Given the description of an element on the screen output the (x, y) to click on. 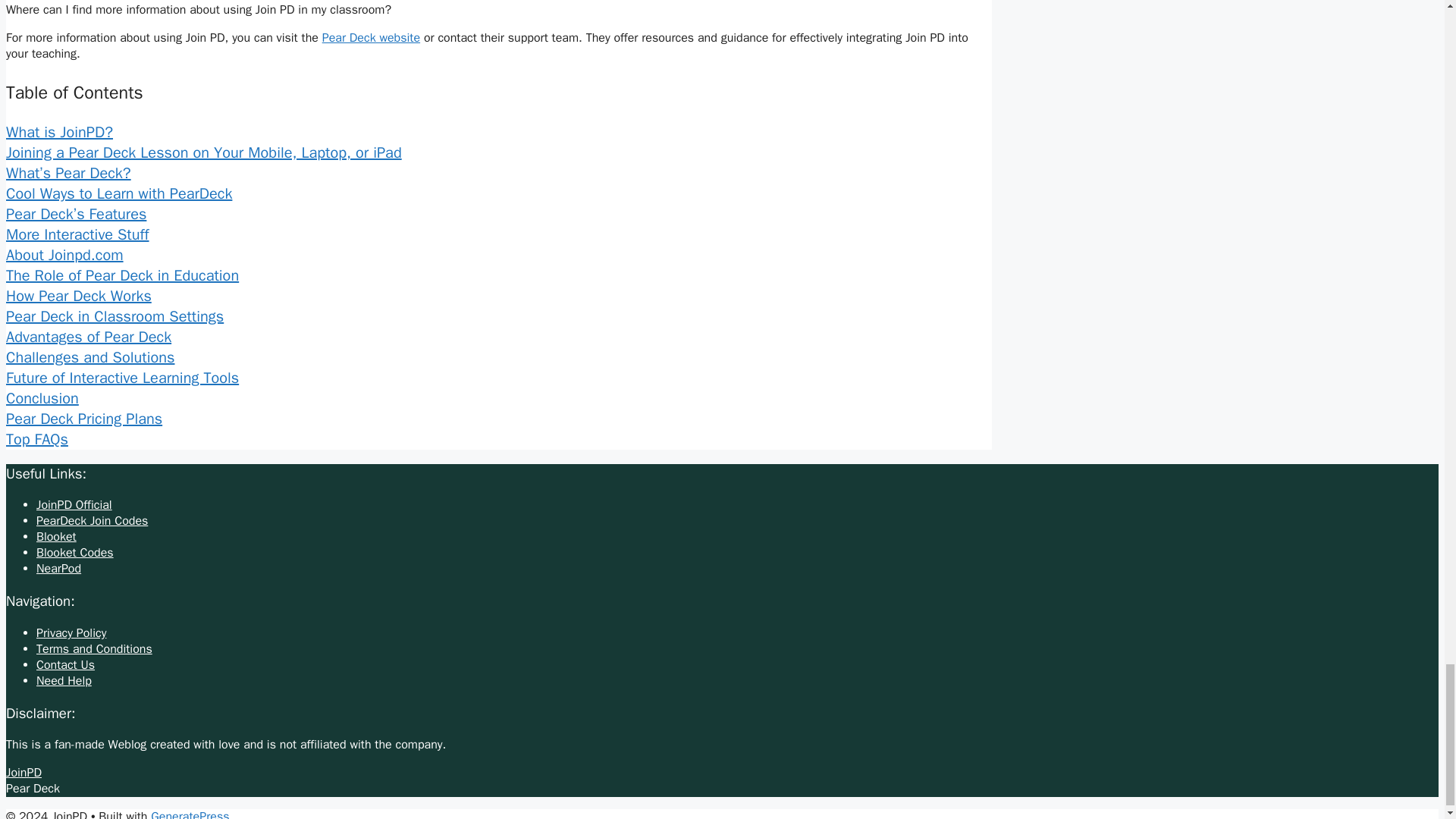
Conclusion (41, 398)
Pear Deck Pricing Plans (83, 418)
Pear Deck in Classroom Settings (114, 316)
The Role of Pear Deck in Education (121, 275)
About Joinpd.com (64, 254)
Blooket Codes (74, 552)
How Pear Deck Works (78, 295)
JoinPD Official (74, 504)
What is JoinPD? (59, 131)
Advantages of Pear Deck (88, 336)
PearDeck Join Codes (92, 520)
Top FAQs (36, 438)
Pear Deck website (370, 37)
Joining a Pear Deck Lesson on Your Mobile, Laptop, or iPad (203, 152)
Privacy Policy (71, 632)
